Given the description of an element on the screen output the (x, y) to click on. 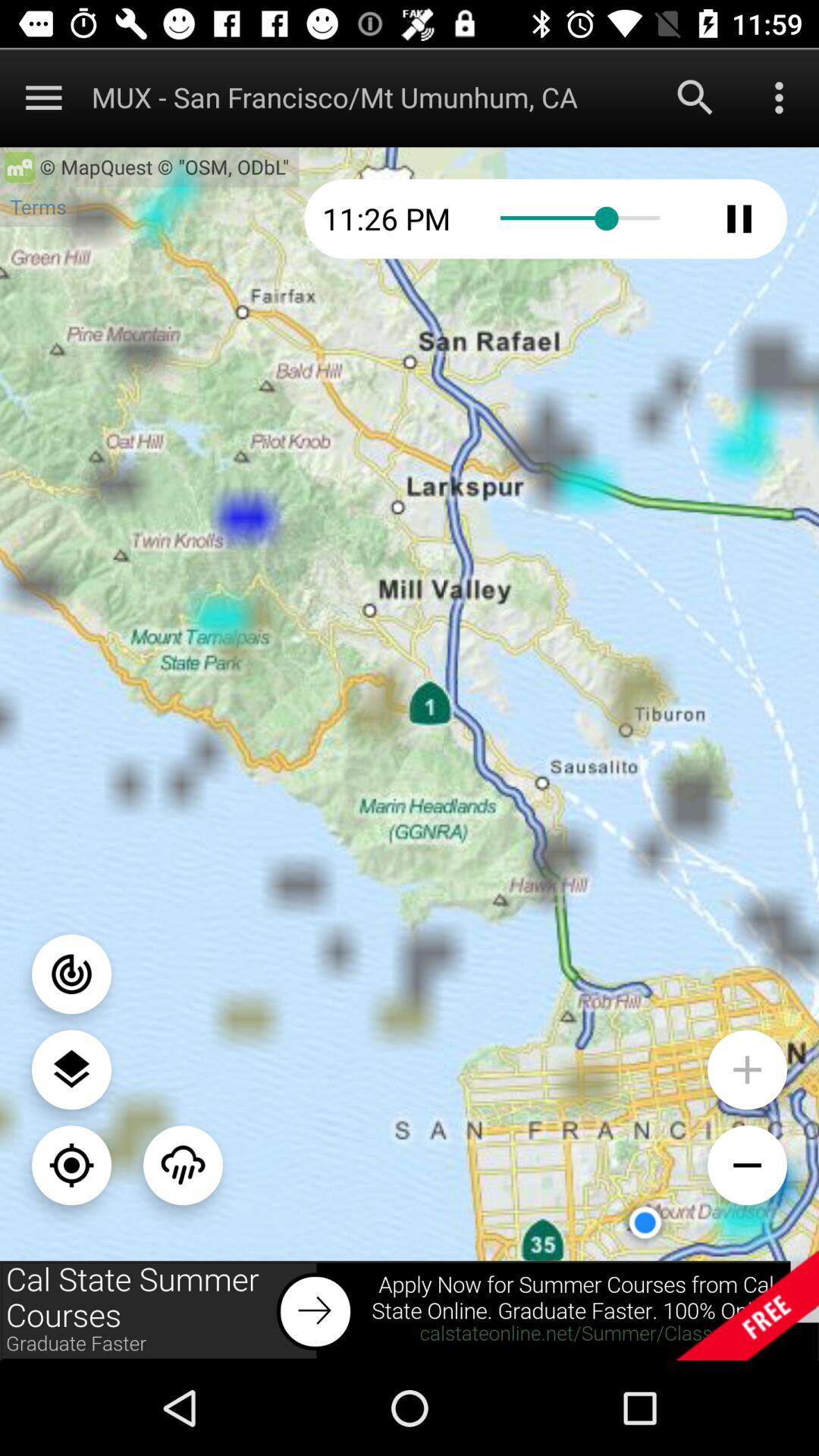
refresh current location (71, 1165)
